Given the description of an element on the screen output the (x, y) to click on. 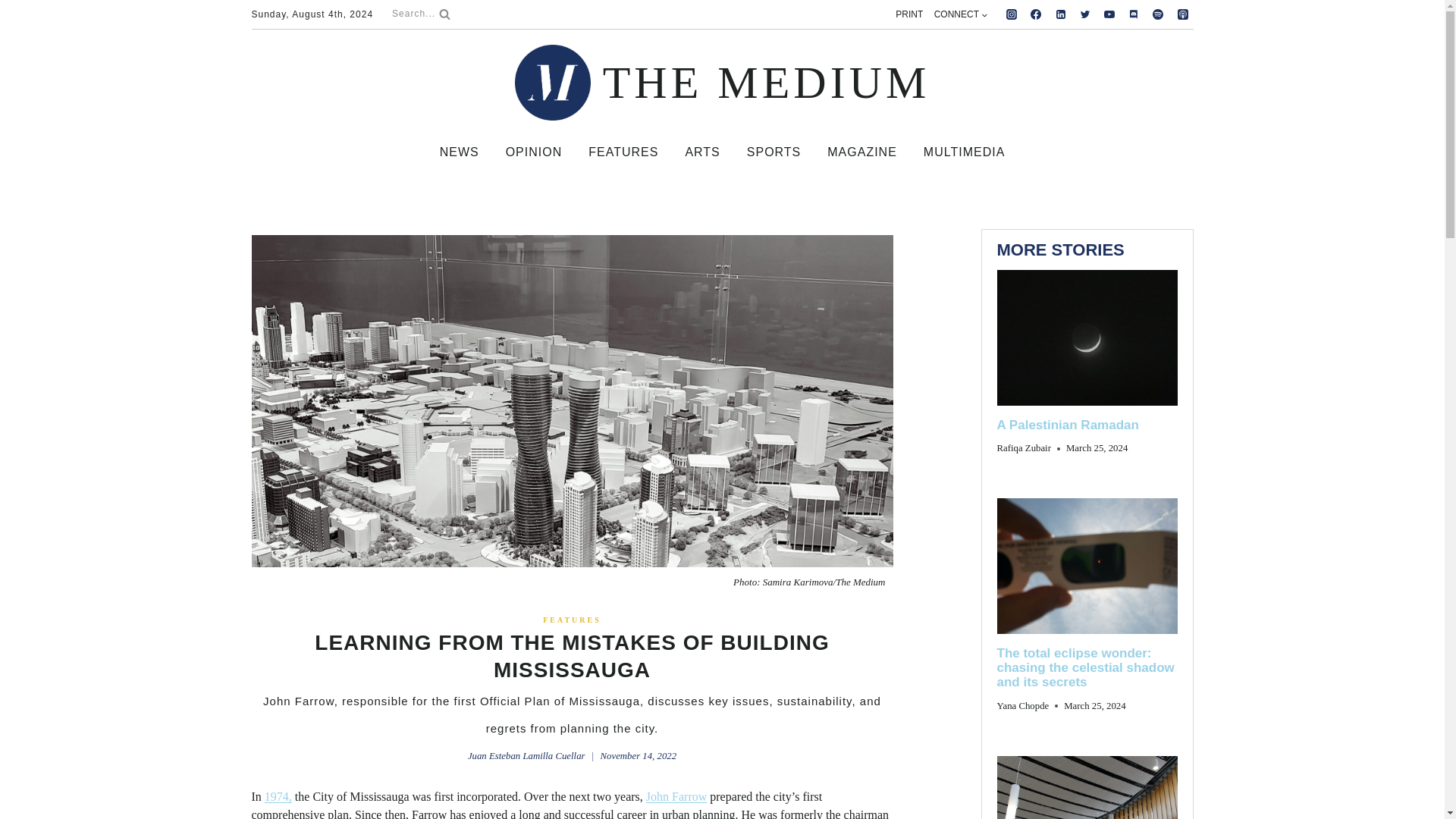
OPINION (533, 151)
Juan Esteban Lamilla Cuellar (526, 756)
CONNECT (960, 14)
NEWS (459, 151)
FEATURES (572, 619)
MULTIMEDIA (963, 151)
PRINT (908, 14)
SPORTS (773, 151)
MAGAZINE (862, 151)
THE MEDIUM (722, 82)
ARTS (702, 151)
1974, (278, 796)
Search... (420, 13)
FEATURES (623, 151)
John Farrow (676, 796)
